Given the description of an element on the screen output the (x, y) to click on. 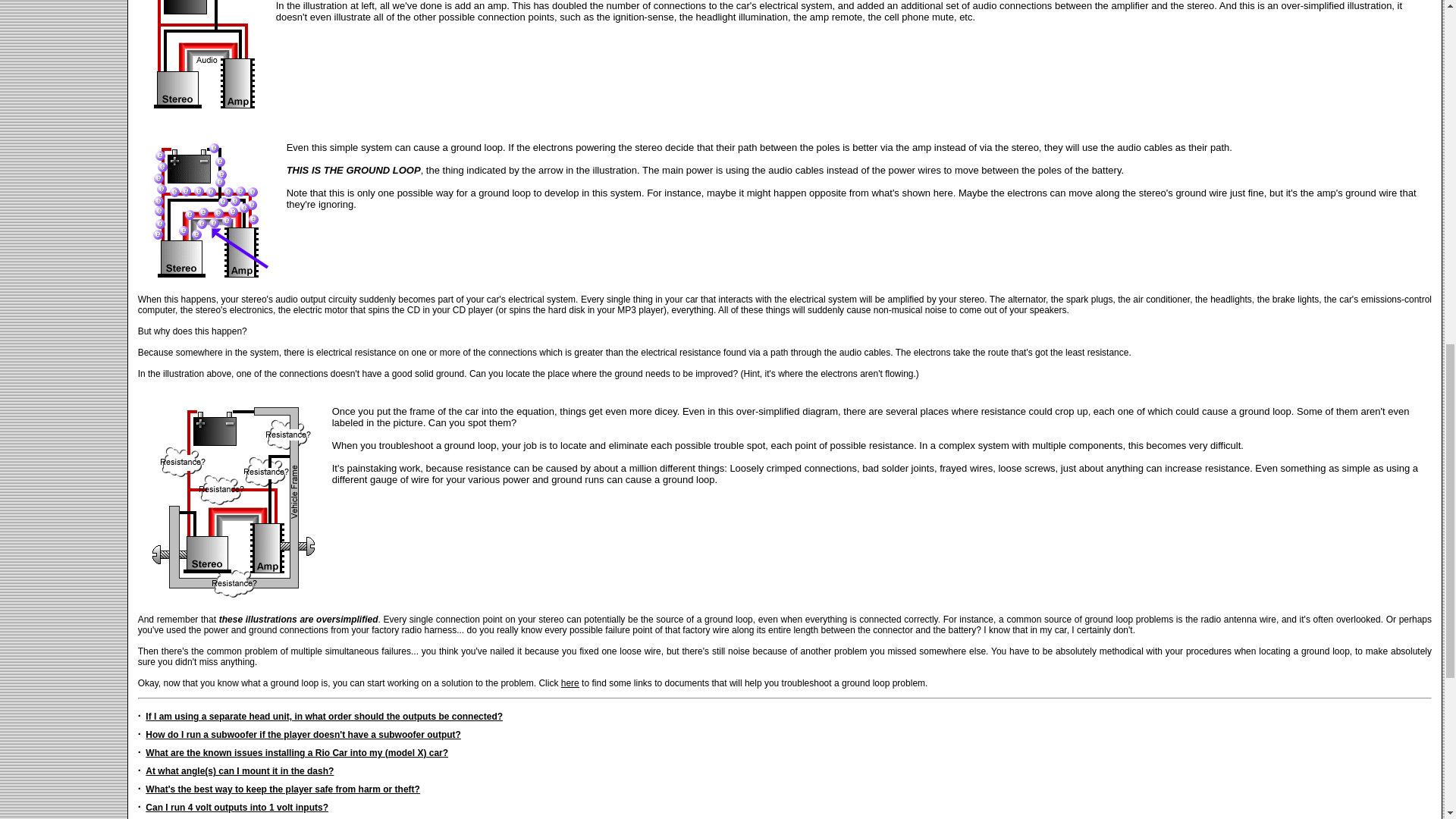
Can I run 4 volt outputs into 1 volt inputs? (237, 807)
here (569, 683)
